Given the description of an element on the screen output the (x, y) to click on. 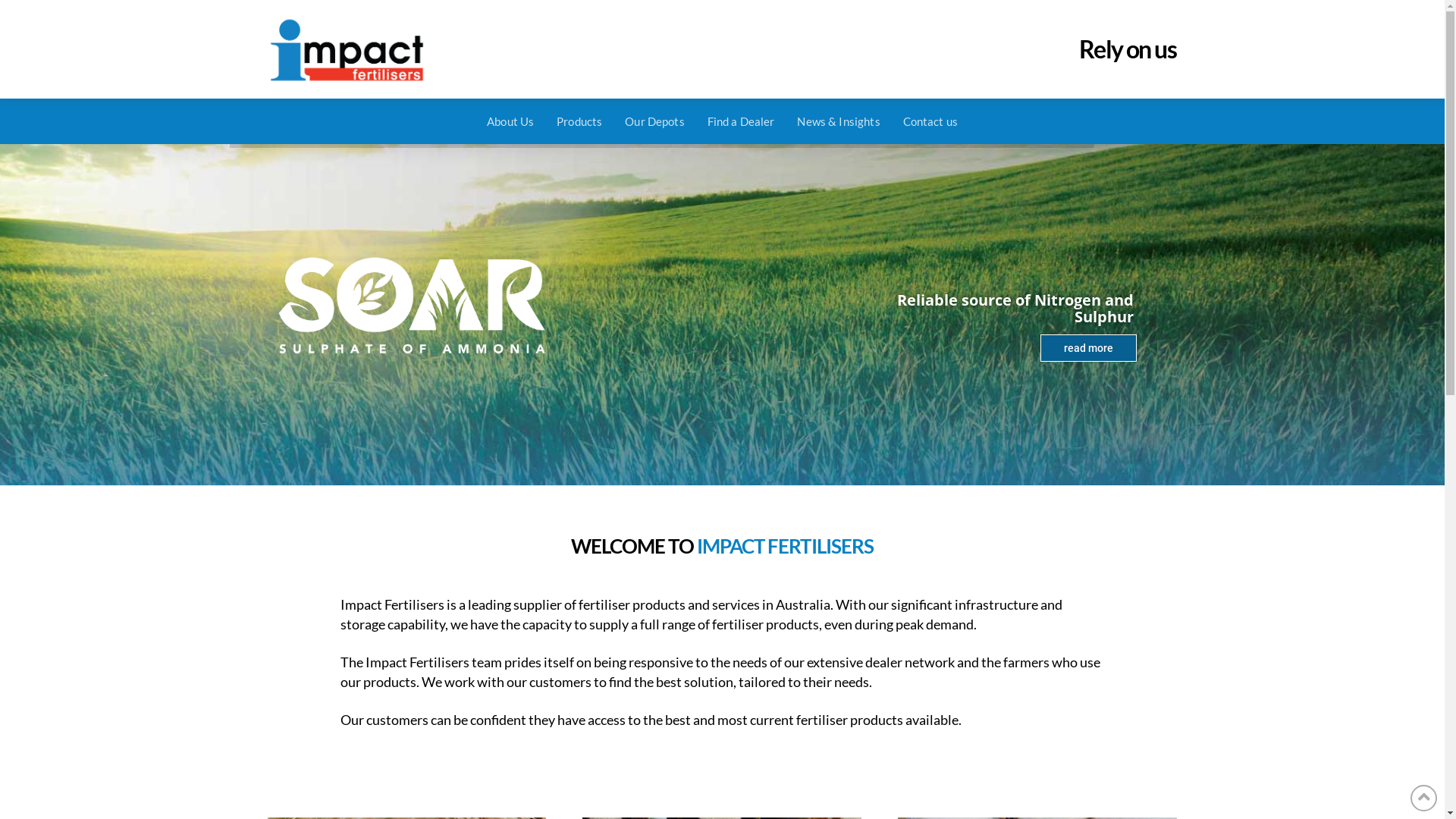
Back to Top Element type: hover (1423, 797)
News & Insights Element type: text (838, 121)
Our Depots Element type: text (654, 121)
Contact us Element type: text (930, 121)
About Us Element type: text (510, 121)
Products Element type: text (579, 121)
Find a Dealer Element type: text (741, 121)
